Given the description of an element on the screen output the (x, y) to click on. 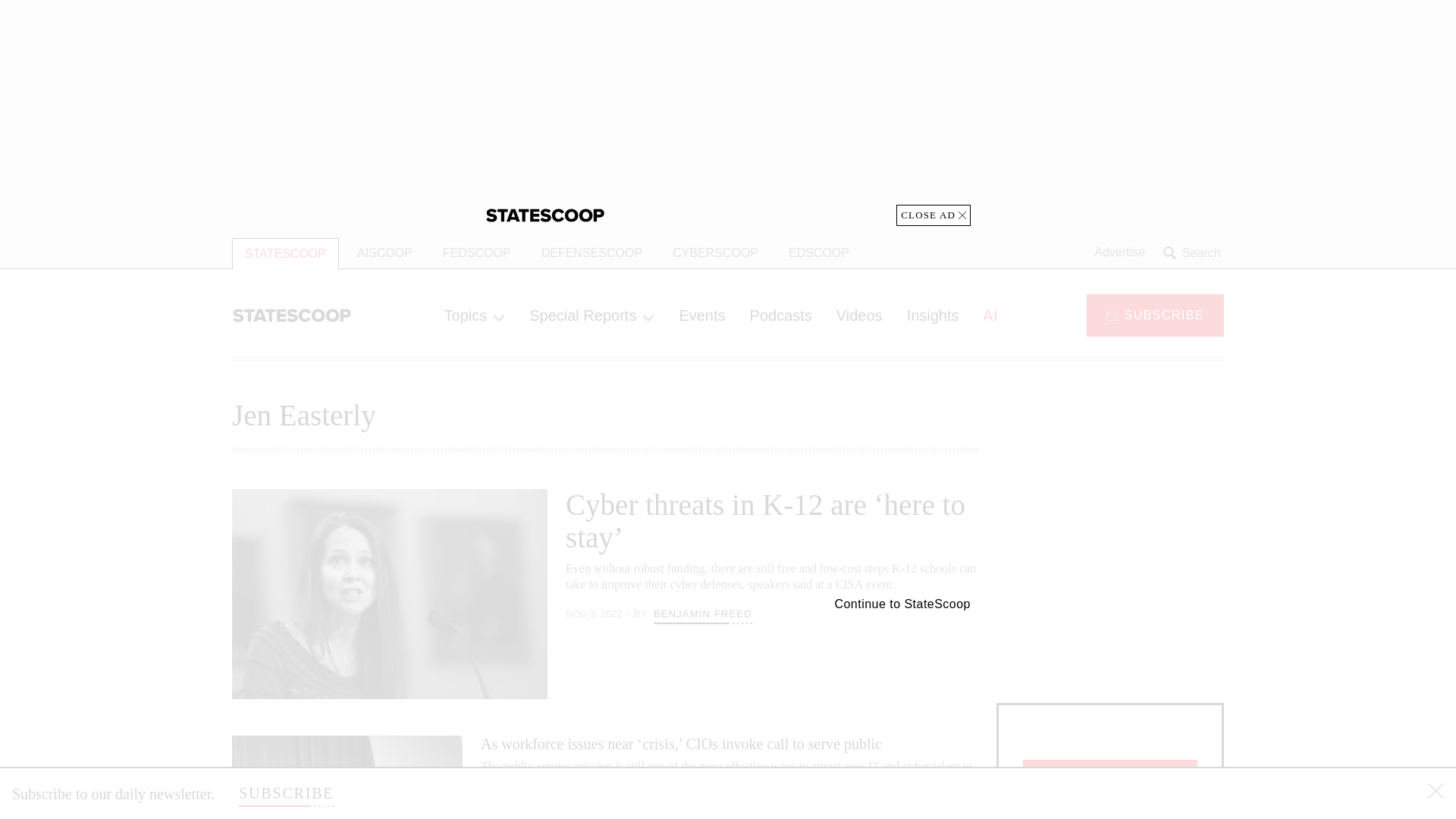
Special Reports (591, 315)
Advertise (1119, 252)
CYBERSCOOP (715, 253)
Insights (933, 315)
Events (701, 315)
AISCOOP (385, 253)
SUBSCRIBE (1155, 314)
Topics (475, 315)
STATESCOOP (285, 253)
Podcasts (781, 315)
3rd party ad content (1109, 583)
Videos (859, 315)
